Given the description of an element on the screen output the (x, y) to click on. 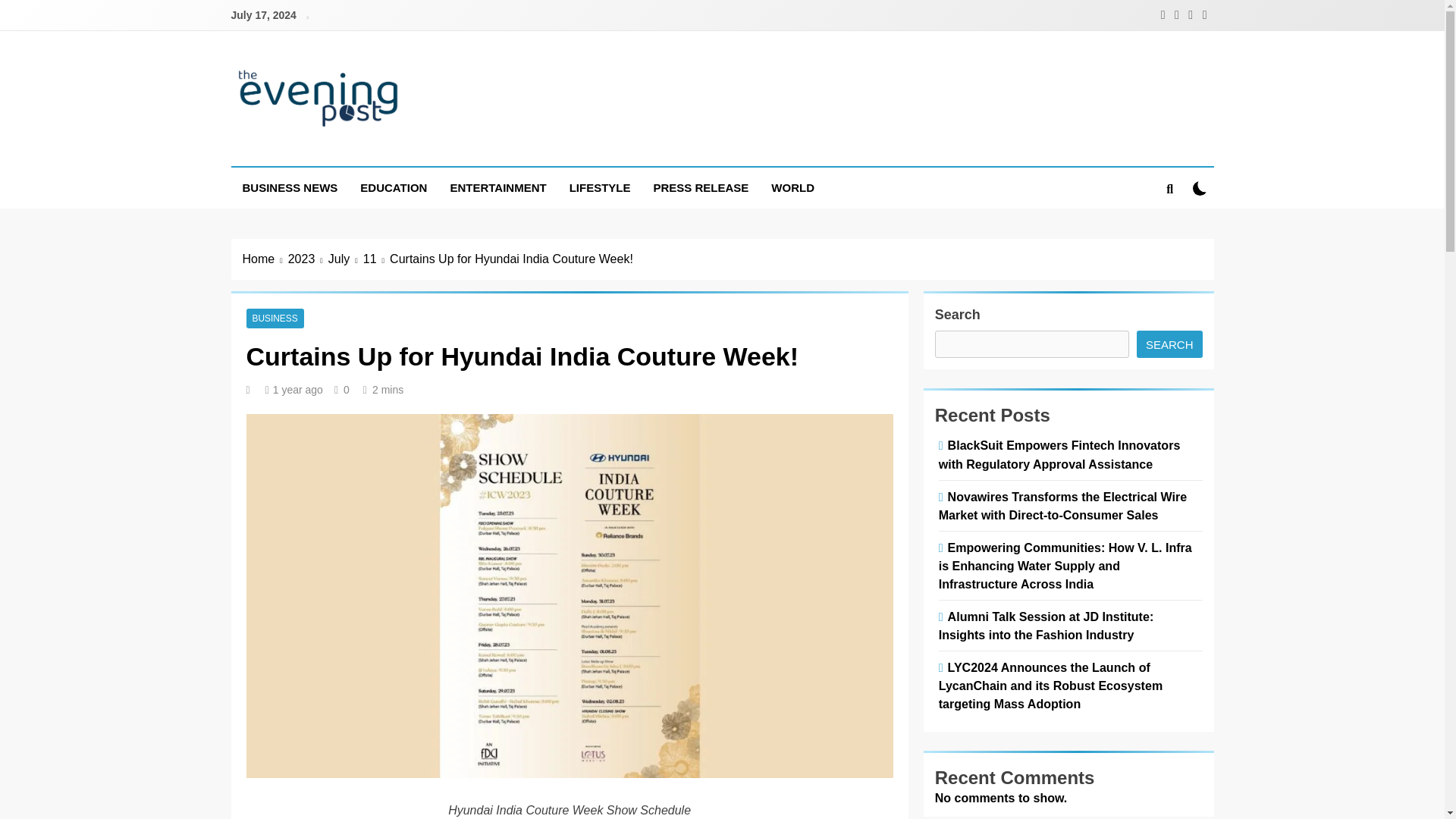
on (1199, 187)
ENTERTAINMENT (497, 187)
1 year ago (298, 389)
The Evening Post (363, 152)
BUSINESS (274, 317)
LIFESTYLE (599, 187)
SEARCH (1169, 343)
July (345, 259)
Home (265, 259)
PRESS RELEASE (701, 187)
BUSINESS NEWS (289, 187)
11 (376, 259)
2023 (308, 259)
